Given the description of an element on the screen output the (x, y) to click on. 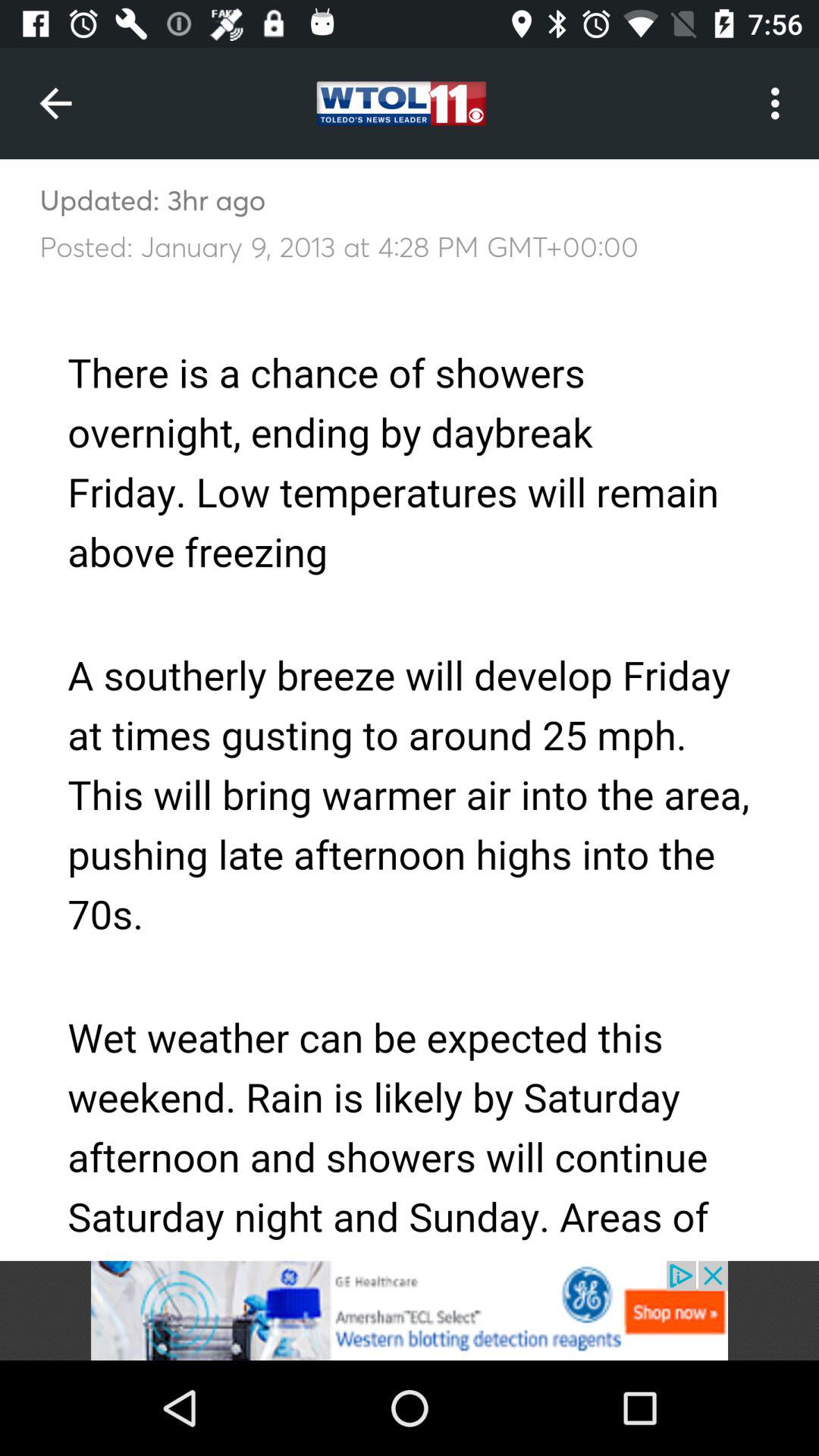
wtol 11 toledo 's news leader (409, 1310)
